Given the description of an element on the screen output the (x, y) to click on. 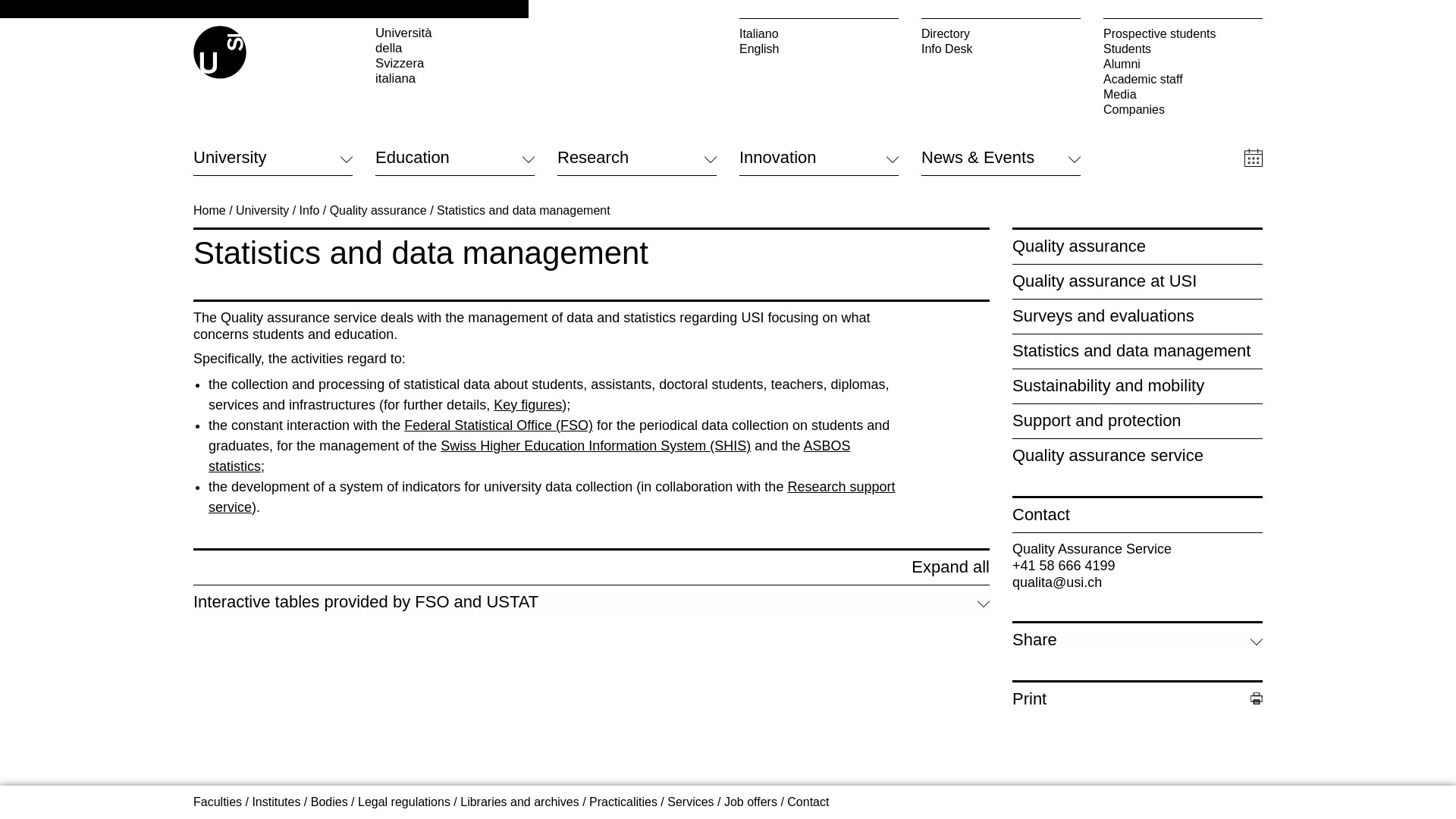
Companies (1182, 109)
Prospective students (1182, 33)
Info Desk (1000, 48)
Italiano (818, 33)
Directory (1000, 33)
English (818, 48)
Media (1182, 94)
Alumni (1182, 64)
Academic staff (1182, 79)
Students (1182, 48)
